Given the description of an element on the screen output the (x, y) to click on. 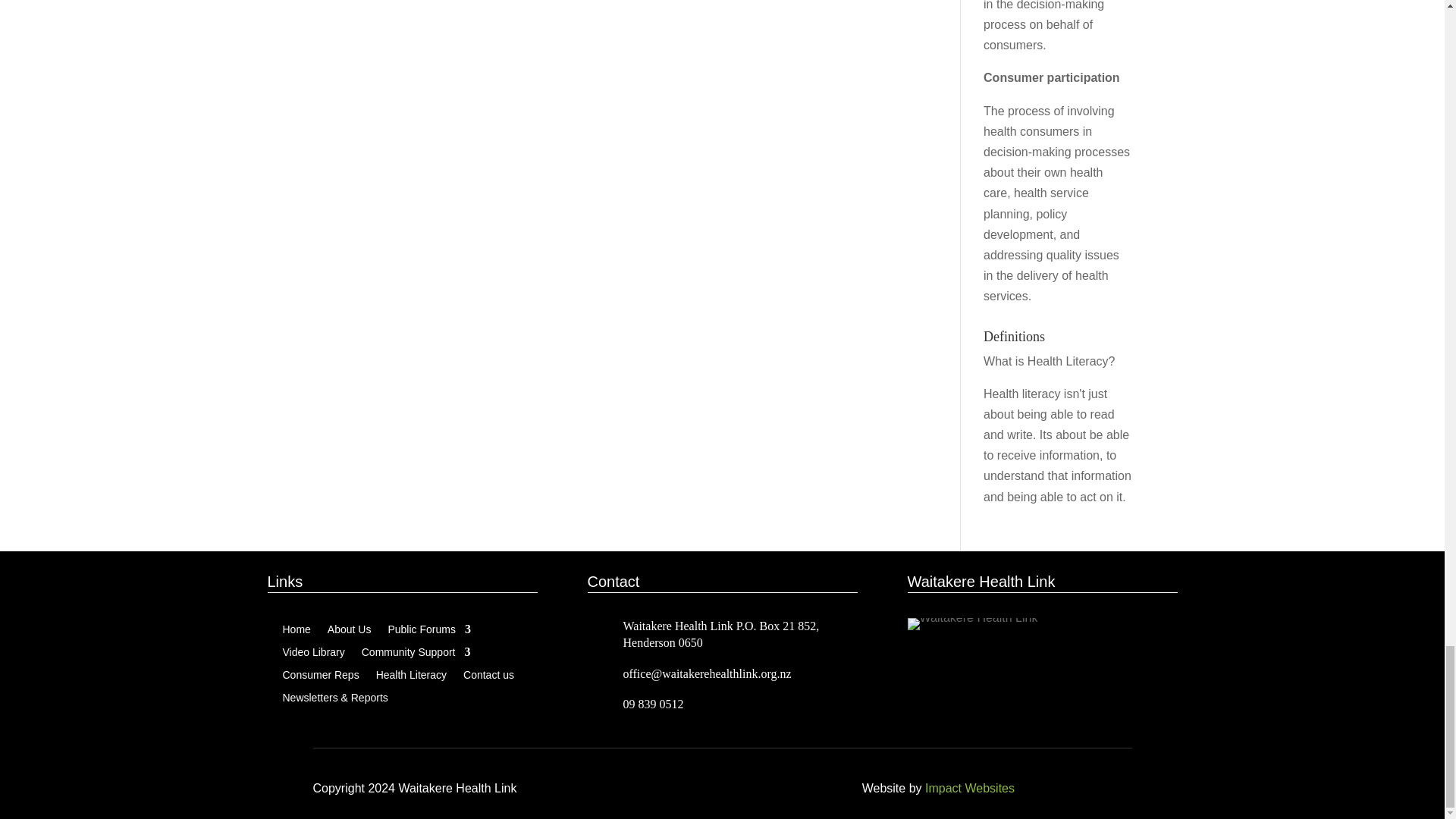
Waitakere Health Link (971, 623)
